Given the description of an element on the screen output the (x, y) to click on. 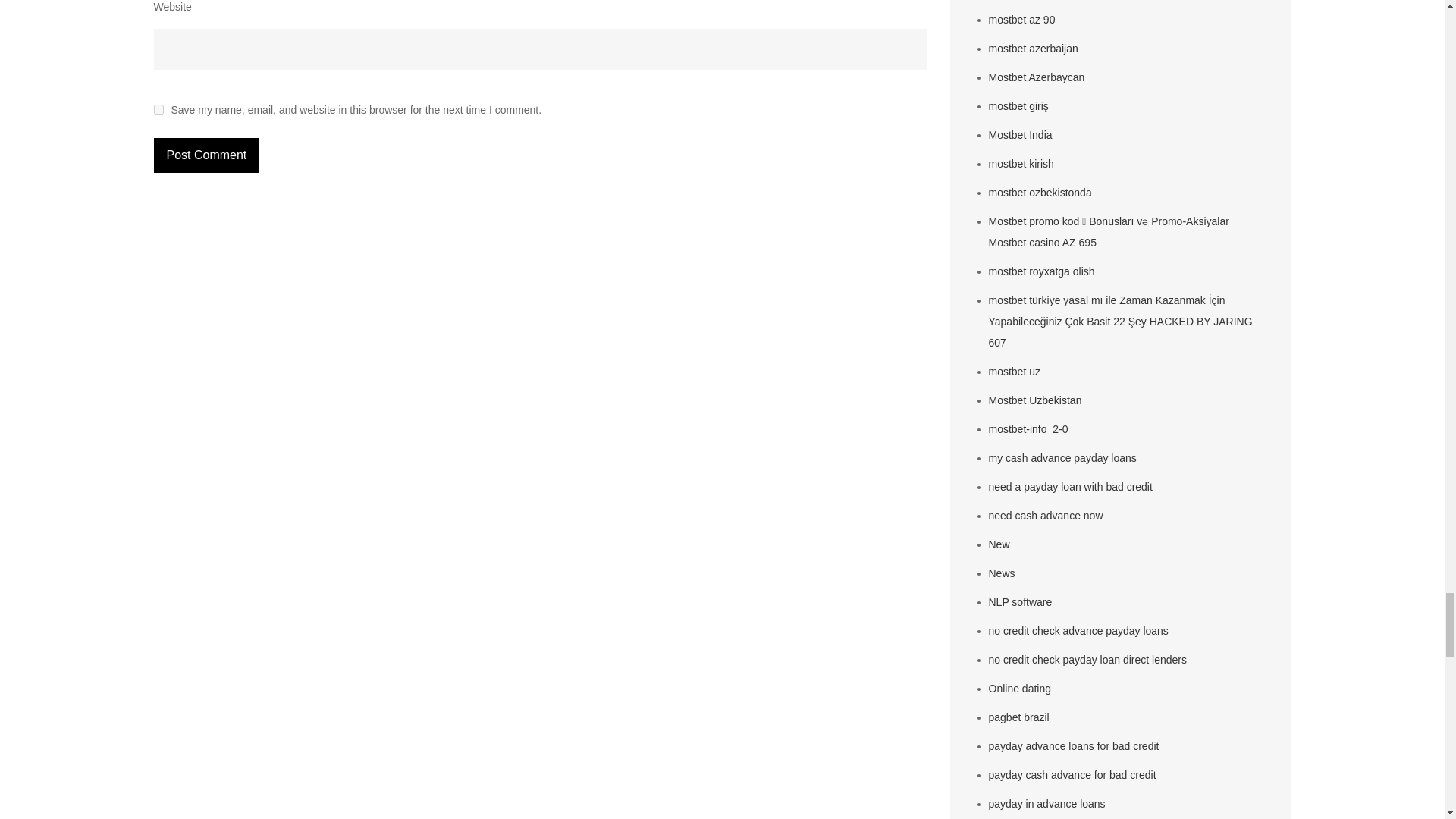
Post Comment (205, 155)
Post Comment (205, 155)
yes (157, 109)
